Given the description of an element on the screen output the (x, y) to click on. 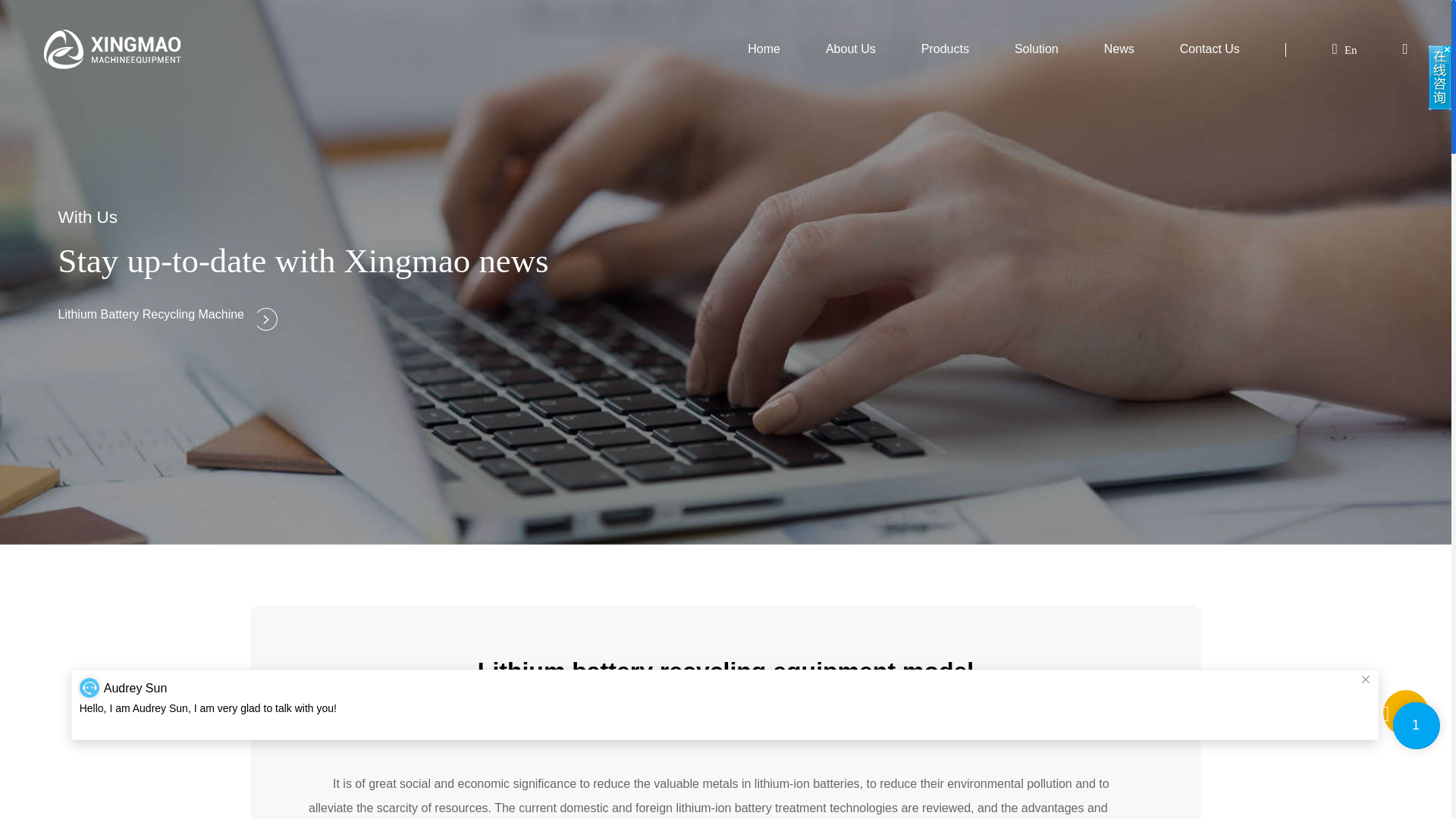
About Us (850, 48)
Solution (1036, 48)
Products (945, 48)
Lithium Battery Recycling Machine (802, 704)
Contact Us (1209, 48)
